Given the description of an element on the screen output the (x, y) to click on. 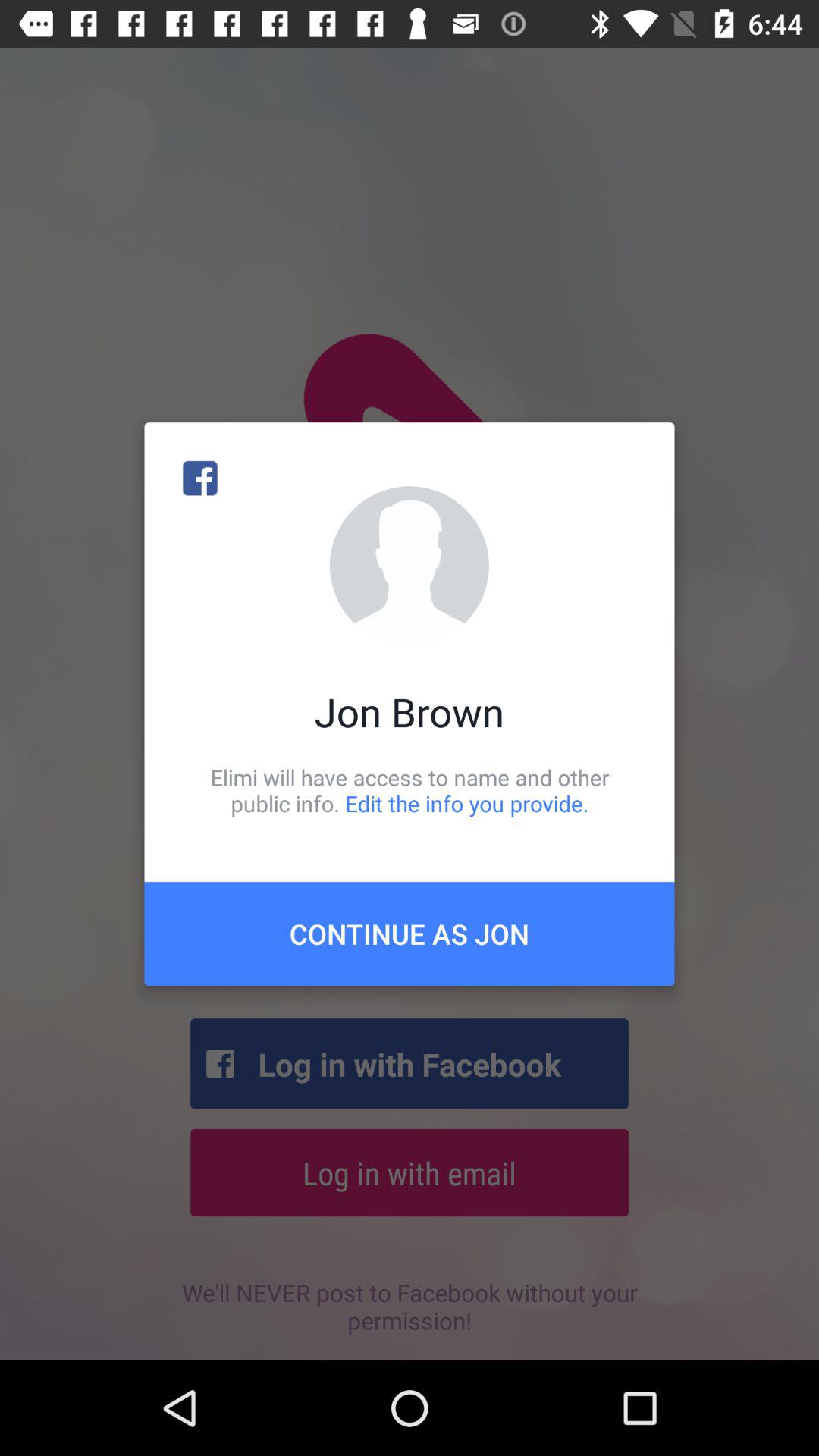
scroll until elimi will have (409, 790)
